Given the description of an element on the screen output the (x, y) to click on. 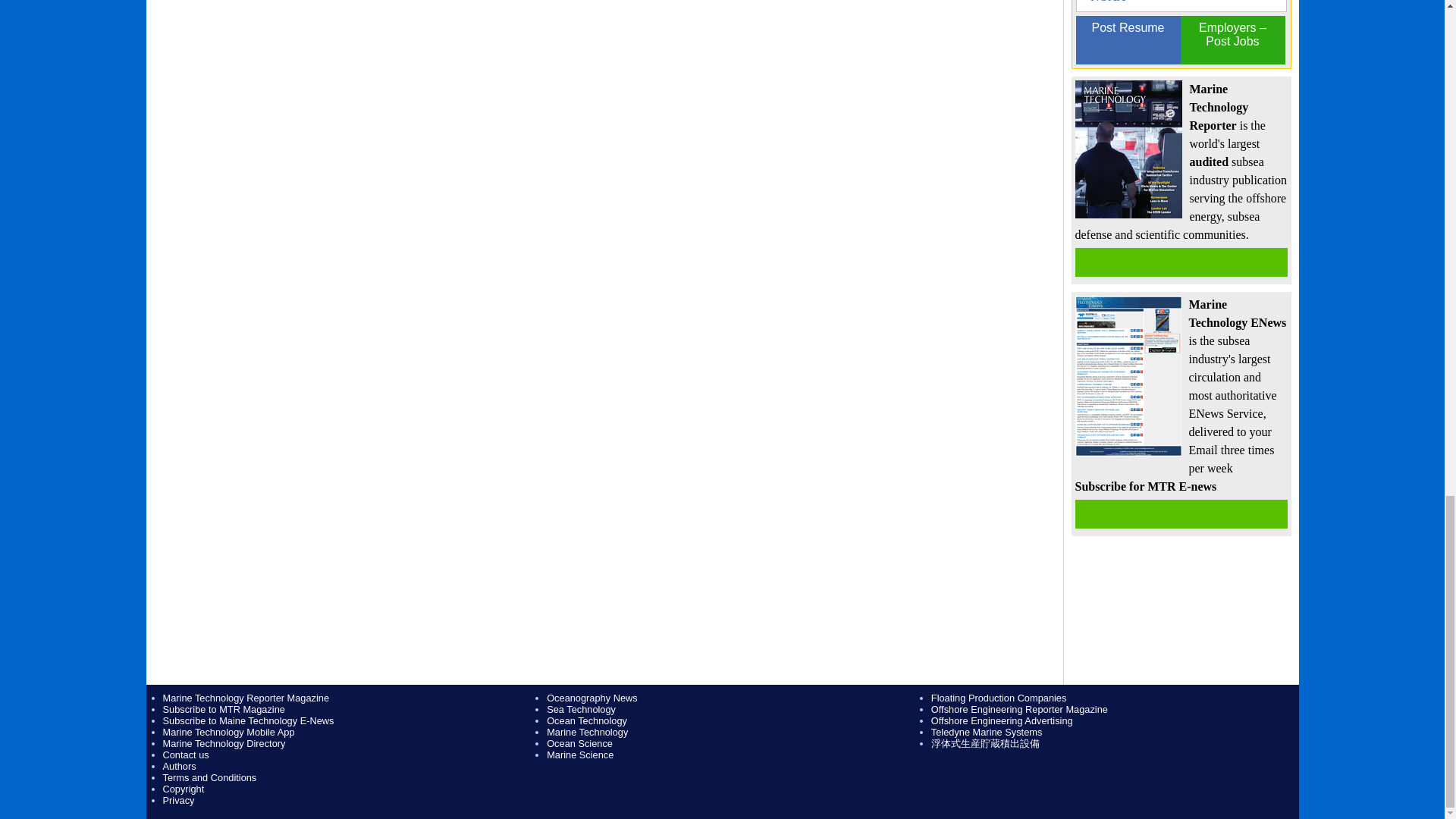
Marine Technology Reporter Magazine (245, 697)
Subscribe (1181, 513)
Contact us (184, 754)
Offshore Engineering Reporter Magazine (1019, 708)
Marine Technology Directory (223, 743)
Marine Technology Reporter magazine subscription (1181, 262)
Subscribe to MTR Magazine (222, 708)
Marine Technology Directory (223, 743)
Subscribe to Marine technology Reporter Magazine (222, 708)
Terms and Conditions (208, 777)
Copyright (182, 788)
Subscribe (1181, 513)
Teledyne Marine Systems (986, 731)
Marine Technology Mobile App (227, 731)
Marine Technology Reporter Magazine (245, 697)
